Given the description of an element on the screen output the (x, y) to click on. 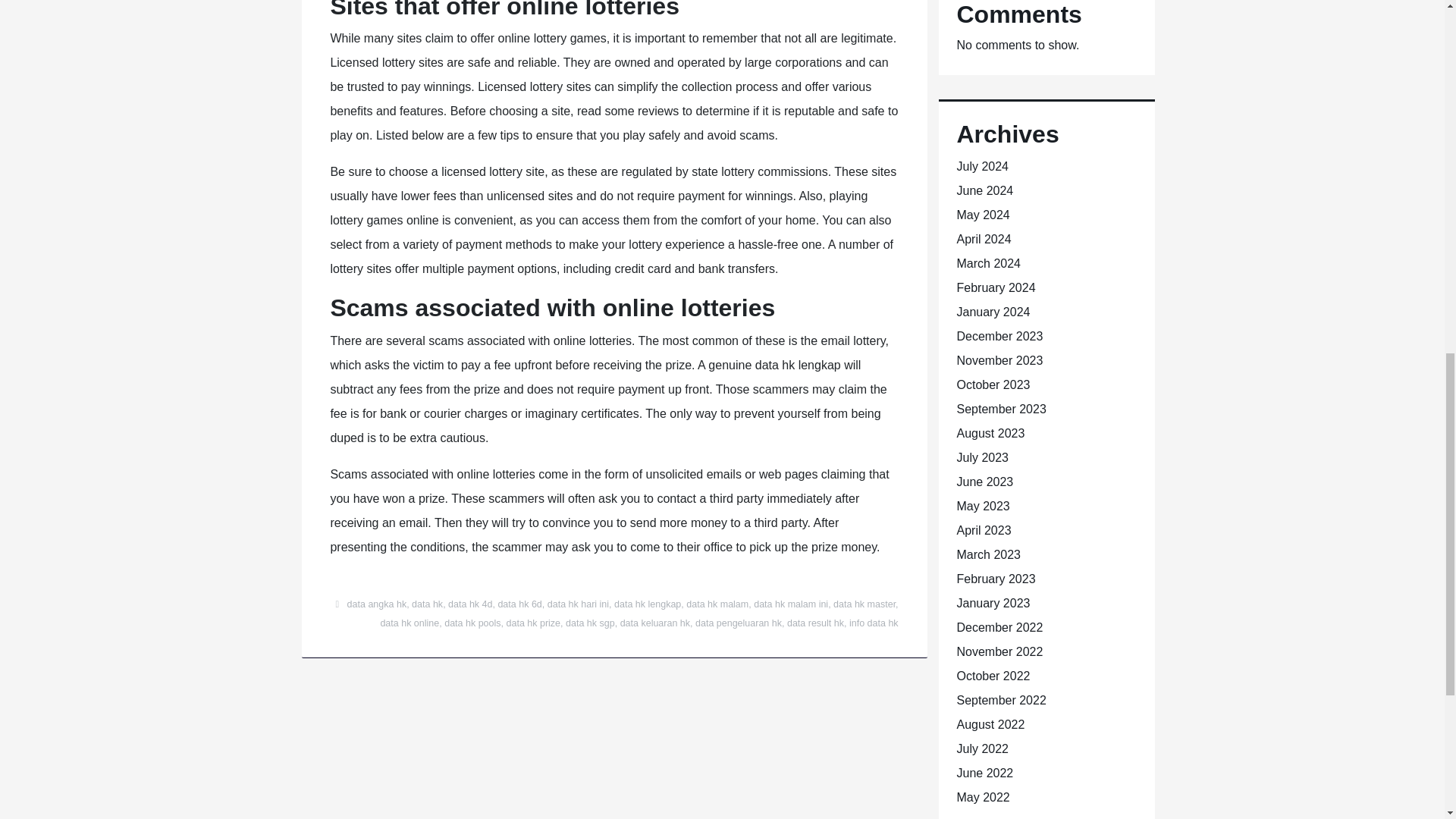
January 2024 (993, 311)
data hk malam ini (791, 603)
July 2024 (982, 165)
data hk 6d (519, 603)
data hk 4d (470, 603)
February 2024 (995, 287)
data hk prize (533, 623)
June 2024 (984, 190)
data hk (427, 603)
data keluaran hk (655, 623)
